Given the description of an element on the screen output the (x, y) to click on. 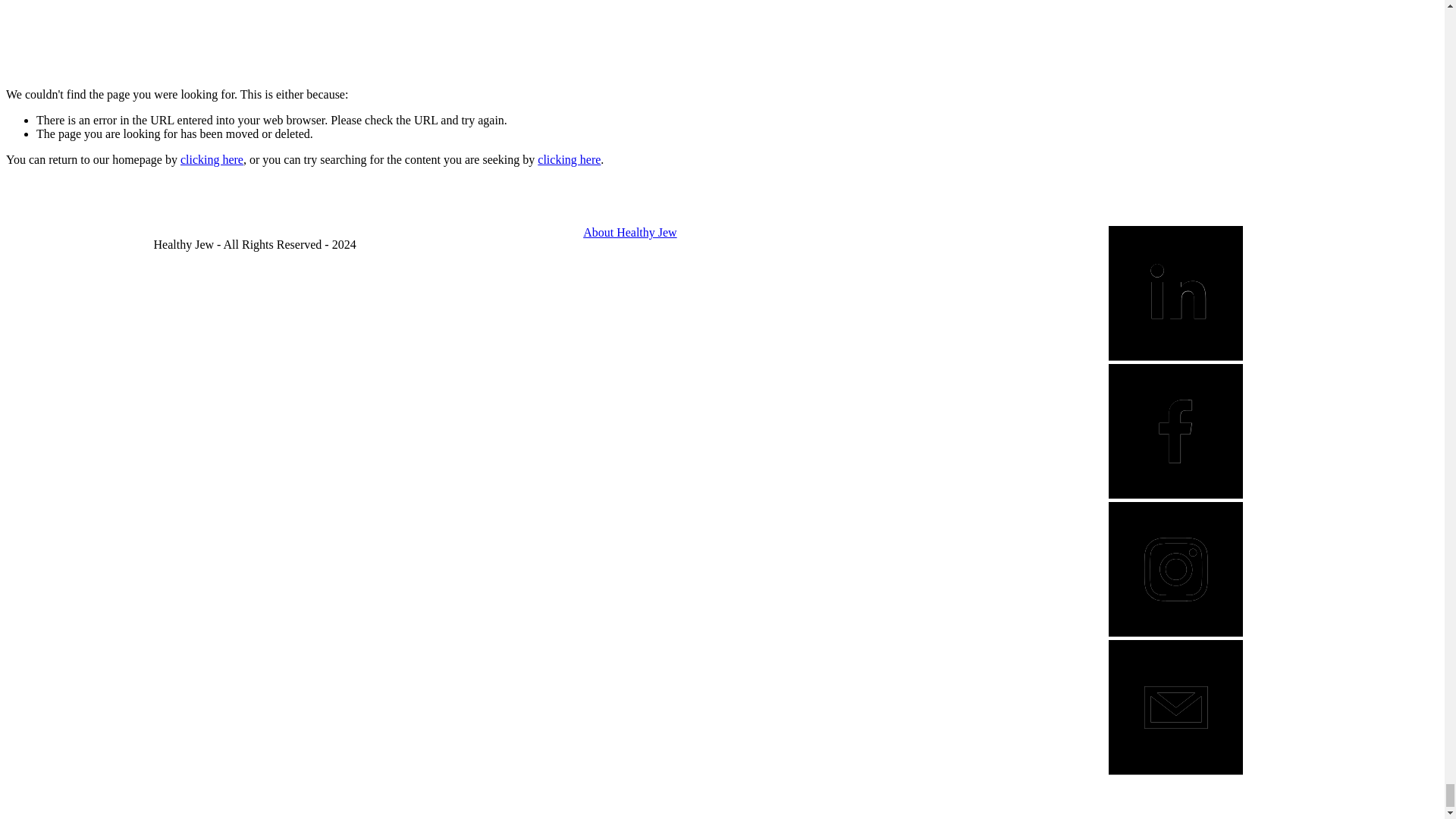
clicking here (568, 159)
clicking here (211, 159)
About Healthy Jew (630, 232)
